Given the description of an element on the screen output the (x, y) to click on. 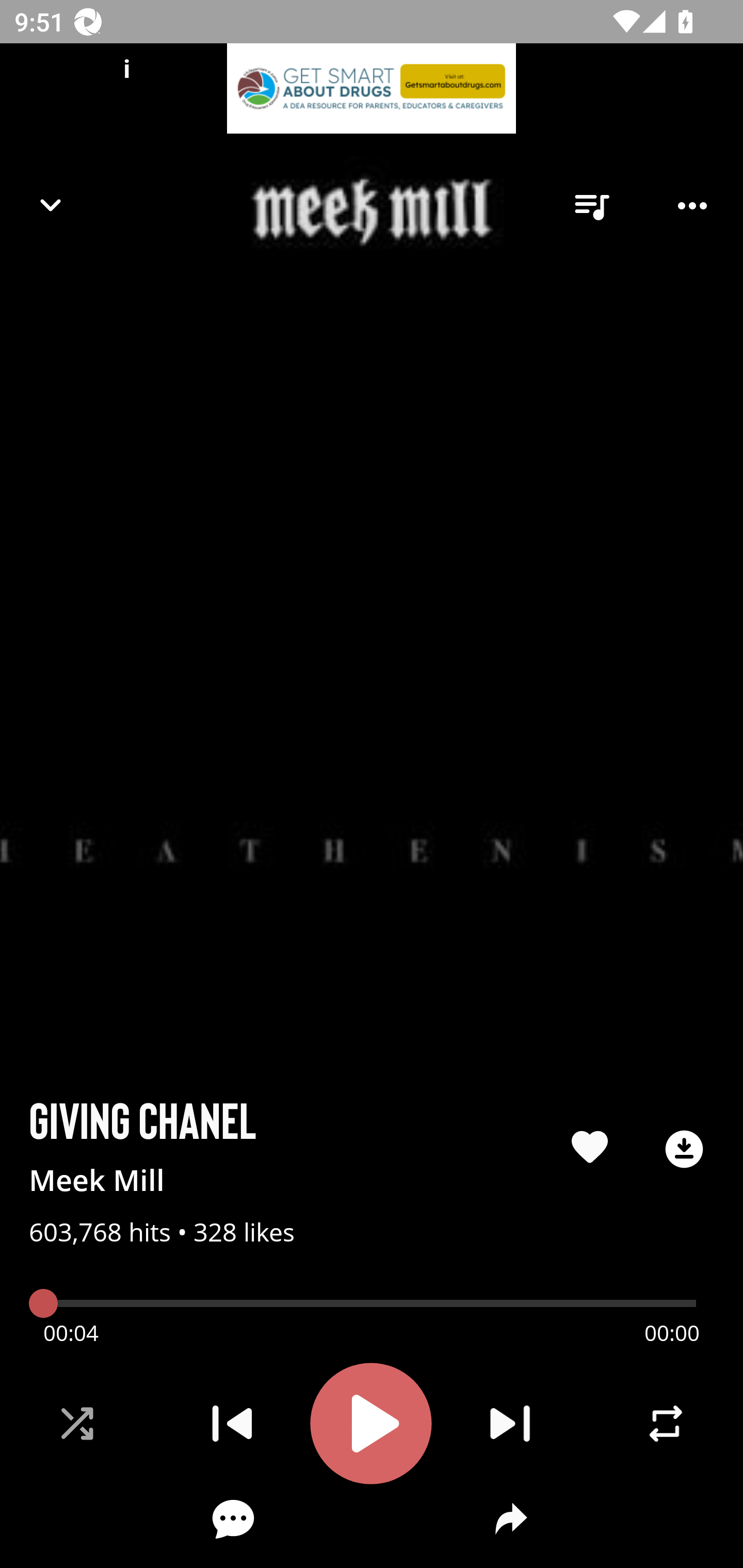
Navigate up (50, 205)
queue (590, 206)
Player options (692, 206)
